Given the description of an element on the screen output the (x, y) to click on. 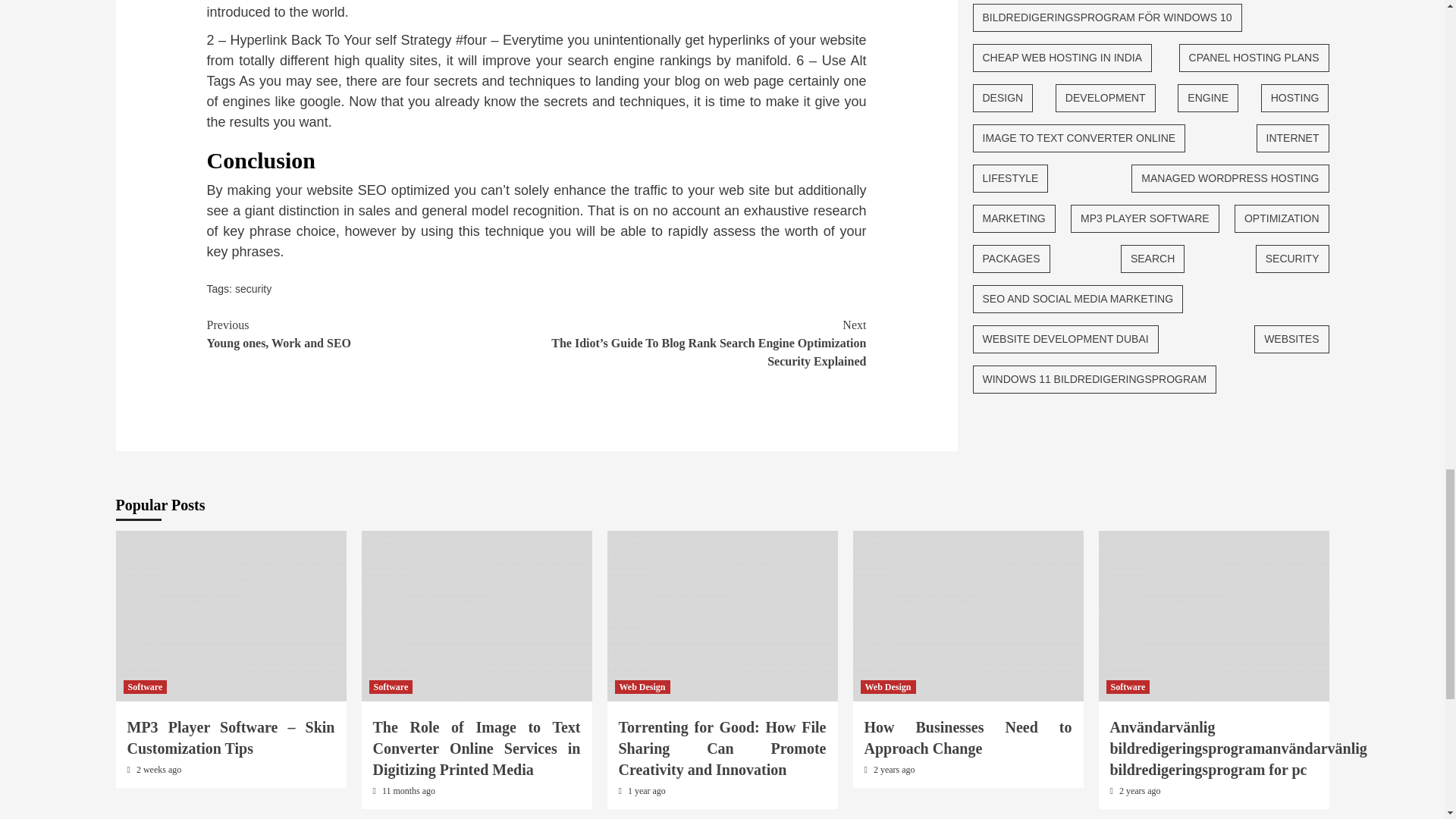
security (252, 288)
MP3 Player Software - Skin Customization Tips (230, 615)
